Given the description of an element on the screen output the (x, y) to click on. 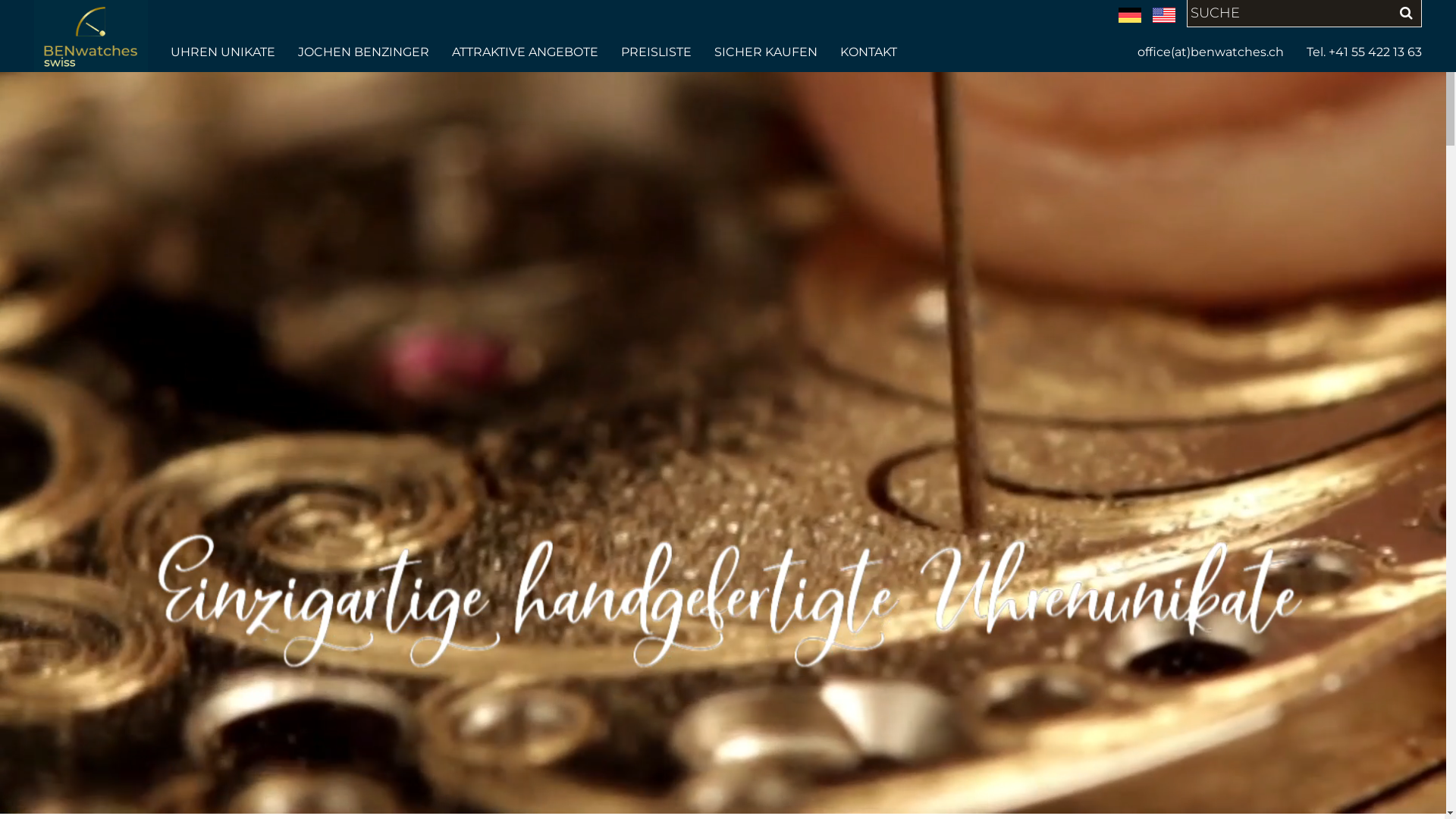
office(at)benwatches.ch Element type: text (1216, 52)
KONTAKT Element type: text (862, 52)
ATTRAKTIVE ANGEBOTE Element type: text (524, 52)
Tel. +41 55 422 13 63 Element type: text (1358, 52)
UHREN UNIKATE Element type: text (228, 52)
PREISLISTE Element type: text (655, 52)
SICHER KAUFEN Element type: text (765, 52)
JOCHEN BENZINGER Element type: text (363, 52)
